Given the description of an element on the screen output the (x, y) to click on. 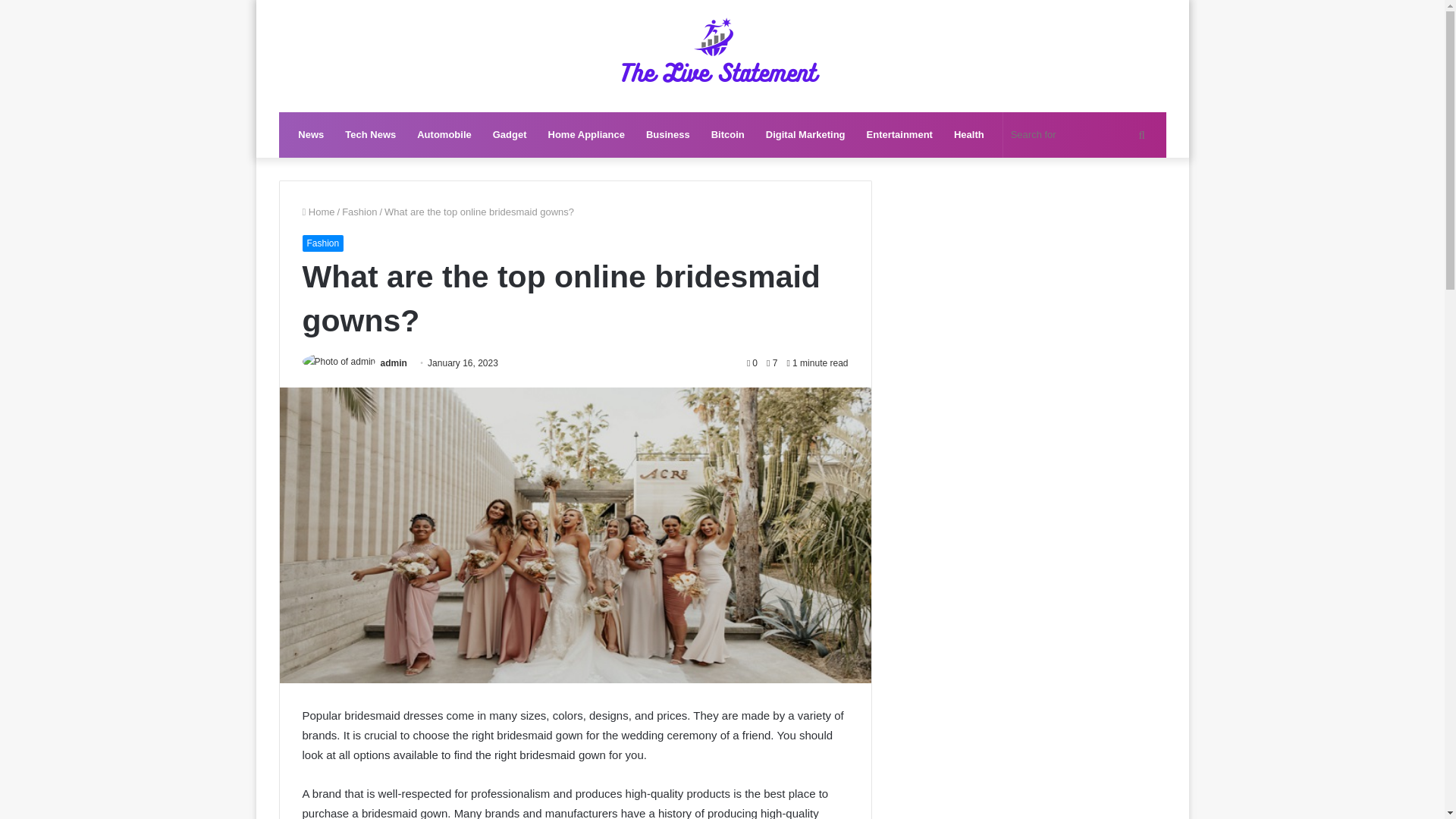
Bitcoin (727, 135)
Home Appliance (585, 135)
Home (317, 211)
Digital Marketing (805, 135)
Entertainment (899, 135)
News (310, 135)
admin (393, 362)
Fashion (359, 211)
The Live Statement (721, 56)
Automobile (443, 135)
